Given the description of an element on the screen output the (x, y) to click on. 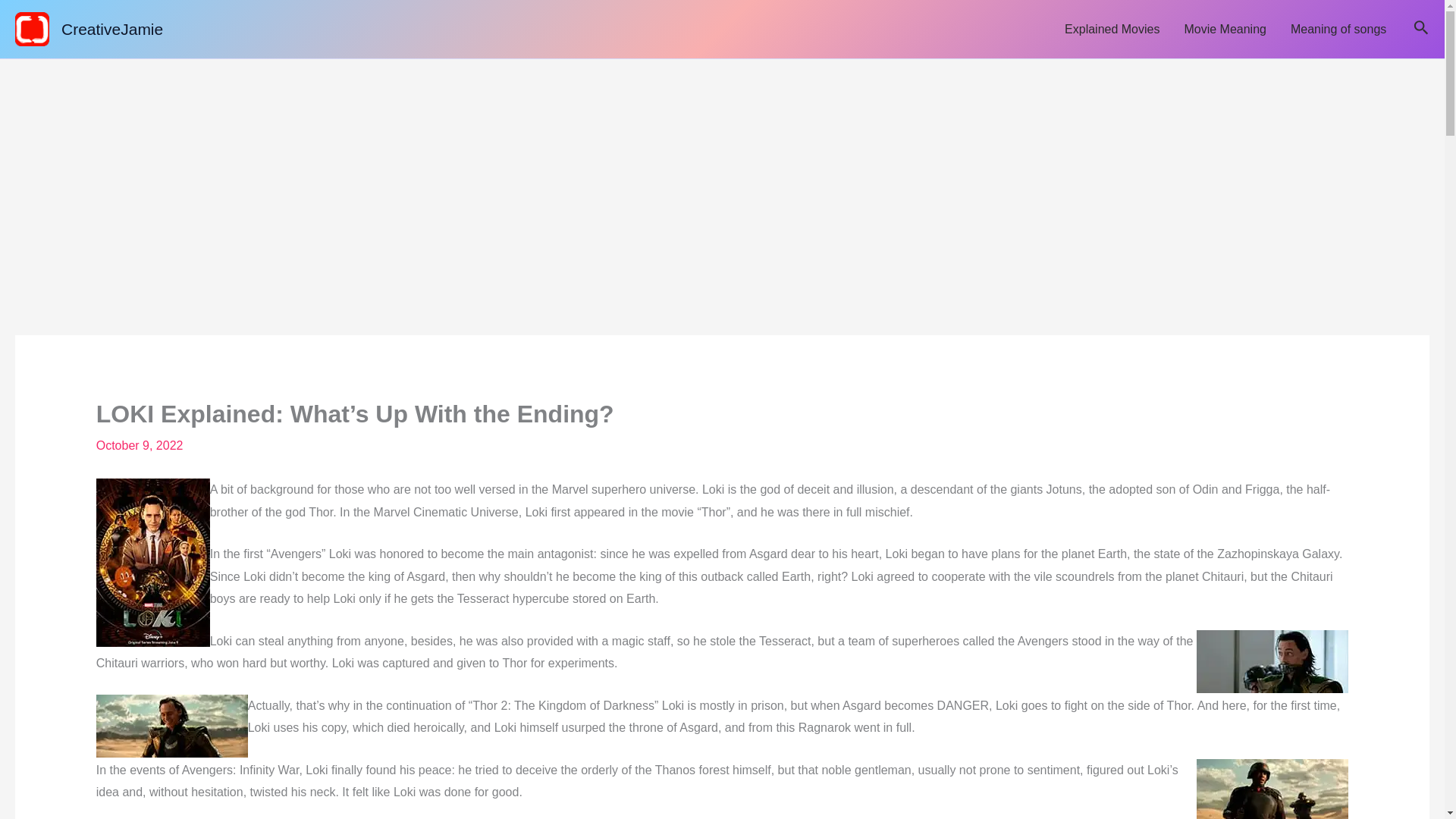
CreativeJamie (112, 28)
Movie Meaning (1225, 29)
Meaning of songs (1337, 29)
Explained Movies (1112, 29)
